Given the description of an element on the screen output the (x, y) to click on. 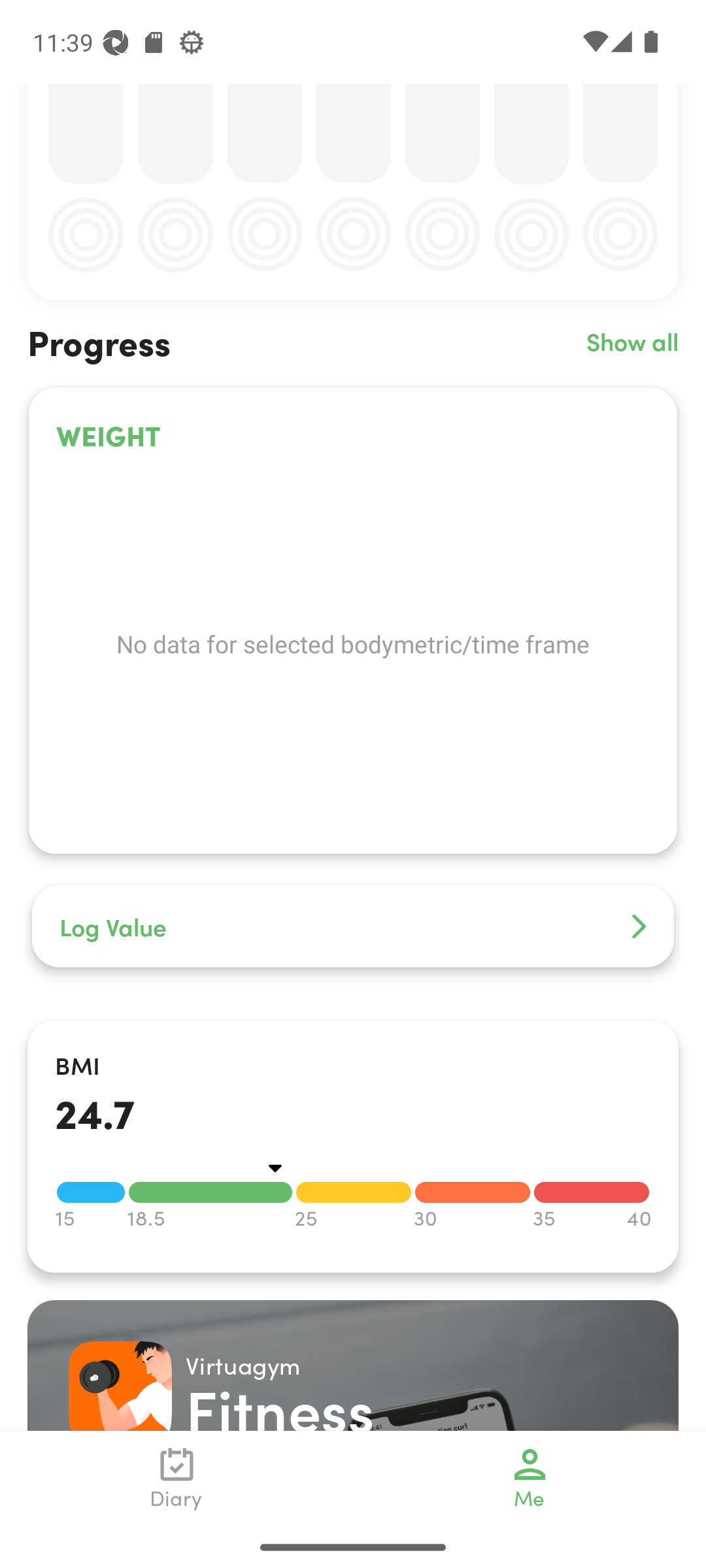
Progress Show all WEIGHT Log Value (353, 659)
Log Value (352, 925)
Diary navigation_icon (176, 1478)
